Given the description of an element on the screen output the (x, y) to click on. 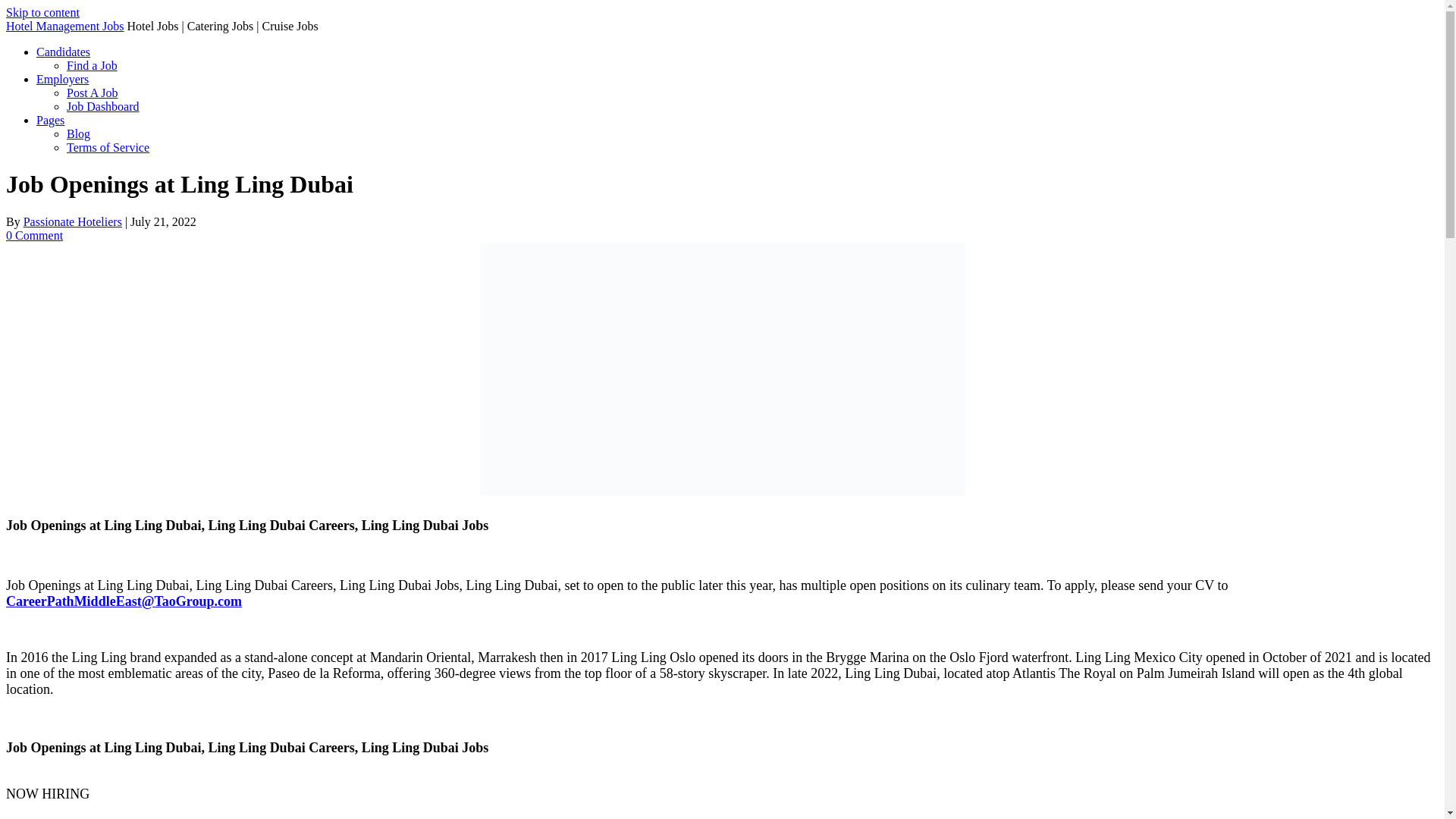
Terms of Service (107, 146)
Passionate Hoteliers (72, 221)
Employers (62, 78)
Posts by Passionate Hoteliers (72, 221)
Pages (50, 119)
Hotel Management Jobs (64, 25)
Job Dashboard (102, 106)
Hotel Management Jobs (64, 25)
Blog (78, 133)
Skip to content (42, 11)
